Given the description of an element on the screen output the (x, y) to click on. 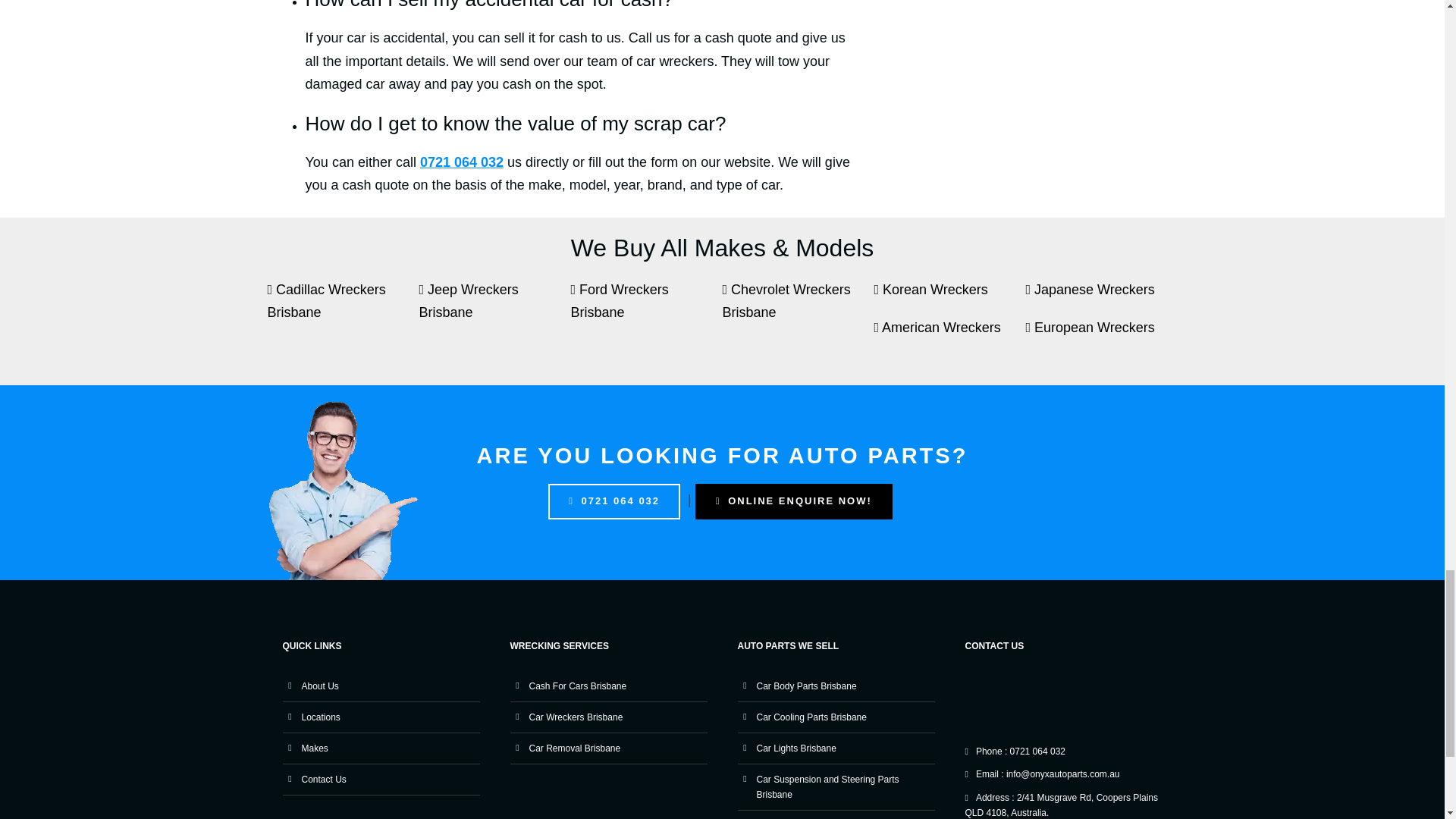
Cadillac Wreckers Brisbane (342, 308)
European Wreckers (1100, 335)
American Wreckers (949, 335)
Jeep Wreckers Brisbane (494, 308)
Korean Wreckers (949, 297)
Ford Wreckers Brisbane (646, 308)
Japanese Wreckers (1100, 297)
Chevrolet Wreckers Brisbane (797, 308)
